Given the description of an element on the screen output the (x, y) to click on. 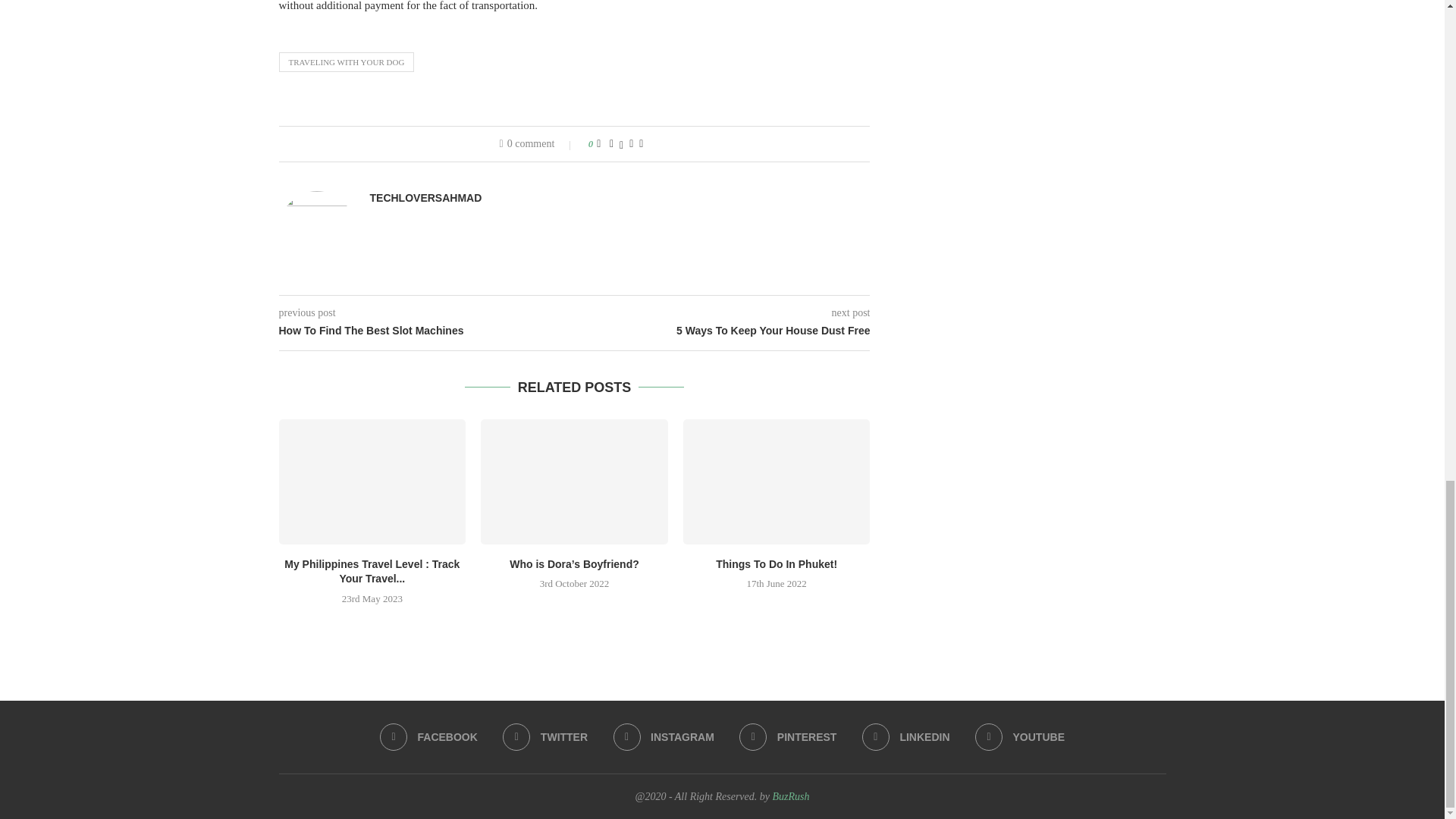
5 Ways To Keep Your House Dust Free (722, 331)
TRAVELING WITH YOUR DOG (346, 62)
How To Find The Best Slot Machines (427, 331)
Author TechloverSAhmad (425, 197)
Things To Do In Phuket! (776, 563)
Things To Do In Phuket! (776, 481)
TECHLOVERSAHMAD (425, 197)
My Philippines Travel Level : Track Your Travel... (371, 571)
